Given the description of an element on the screen output the (x, y) to click on. 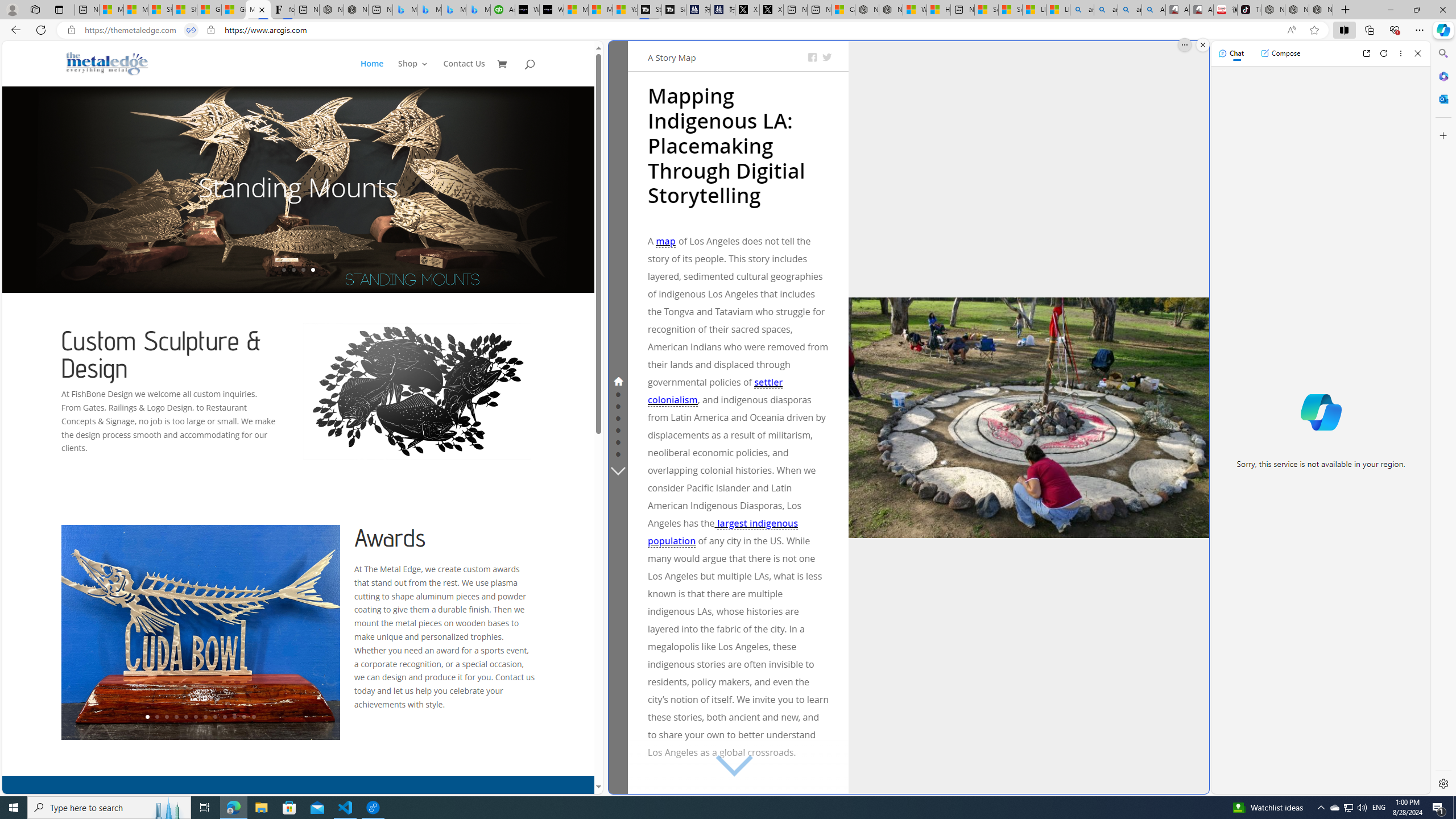
Personal Profile (12, 9)
Go to beginning of narrative (744, 776)
2 (156, 716)
Microsoft Bing Travel - Shangri-La Hotel Bangkok (478, 9)
X (770, 9)
All Cubot phones (1201, 9)
New Tab (1346, 9)
Nordace - #1 Japanese Best-Seller - Siena Smart Backpack (355, 9)
Send keyboard focus to media (738, 220)
Accounting Software for Accountants, CPAs and Bookkeepers (502, 9)
Metal Fish Sculptures & Metal Designs (106, 63)
Next section (618, 469)
